Given the description of an element on the screen output the (x, y) to click on. 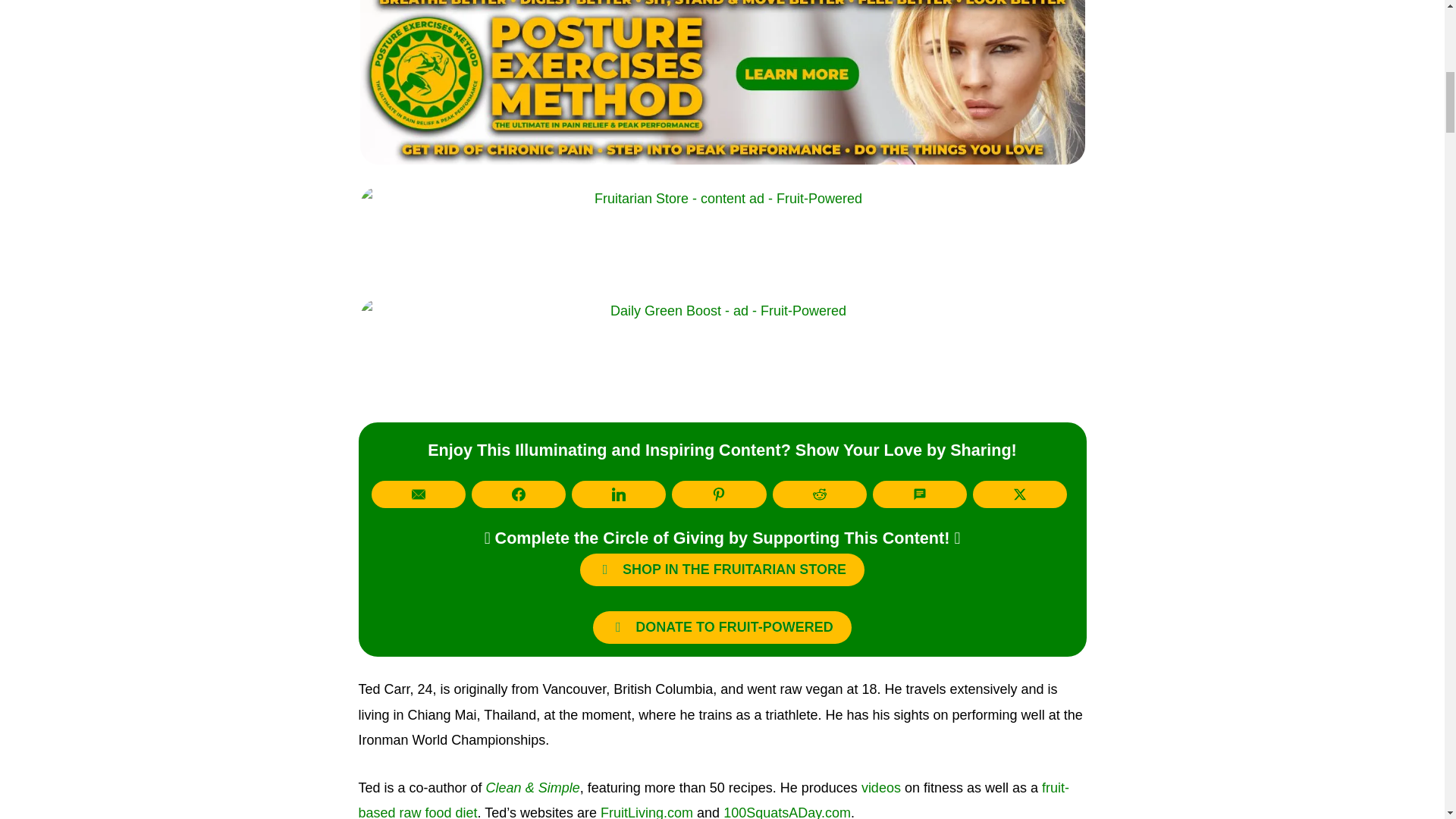
Share on Email (418, 493)
A Quick Guide to a Low-Fat Raw Food Diet (713, 799)
Share on LinkedIn (618, 493)
Share on Pinterest (718, 493)
Share on Twitter (1019, 493)
Share on SMS (919, 493)
Share on Reddit (819, 493)
Explore the Fruit Living YouTube channel (881, 787)
Share on Facebook (518, 493)
